Given the description of an element on the screen output the (x, y) to click on. 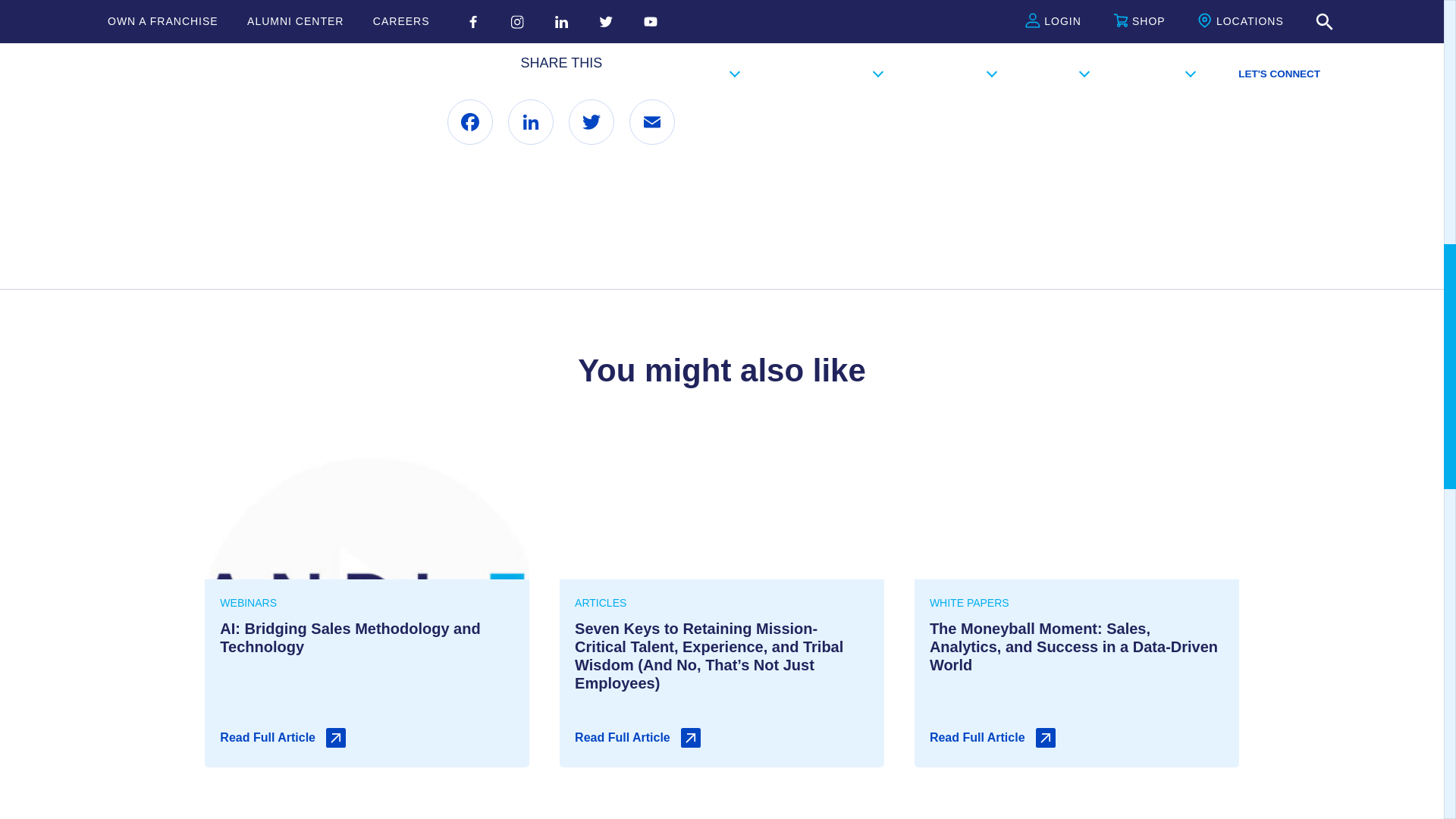
Email (651, 121)
Twitter (591, 121)
LinkedIn (530, 121)
Facebook (469, 121)
